Given the description of an element on the screen output the (x, y) to click on. 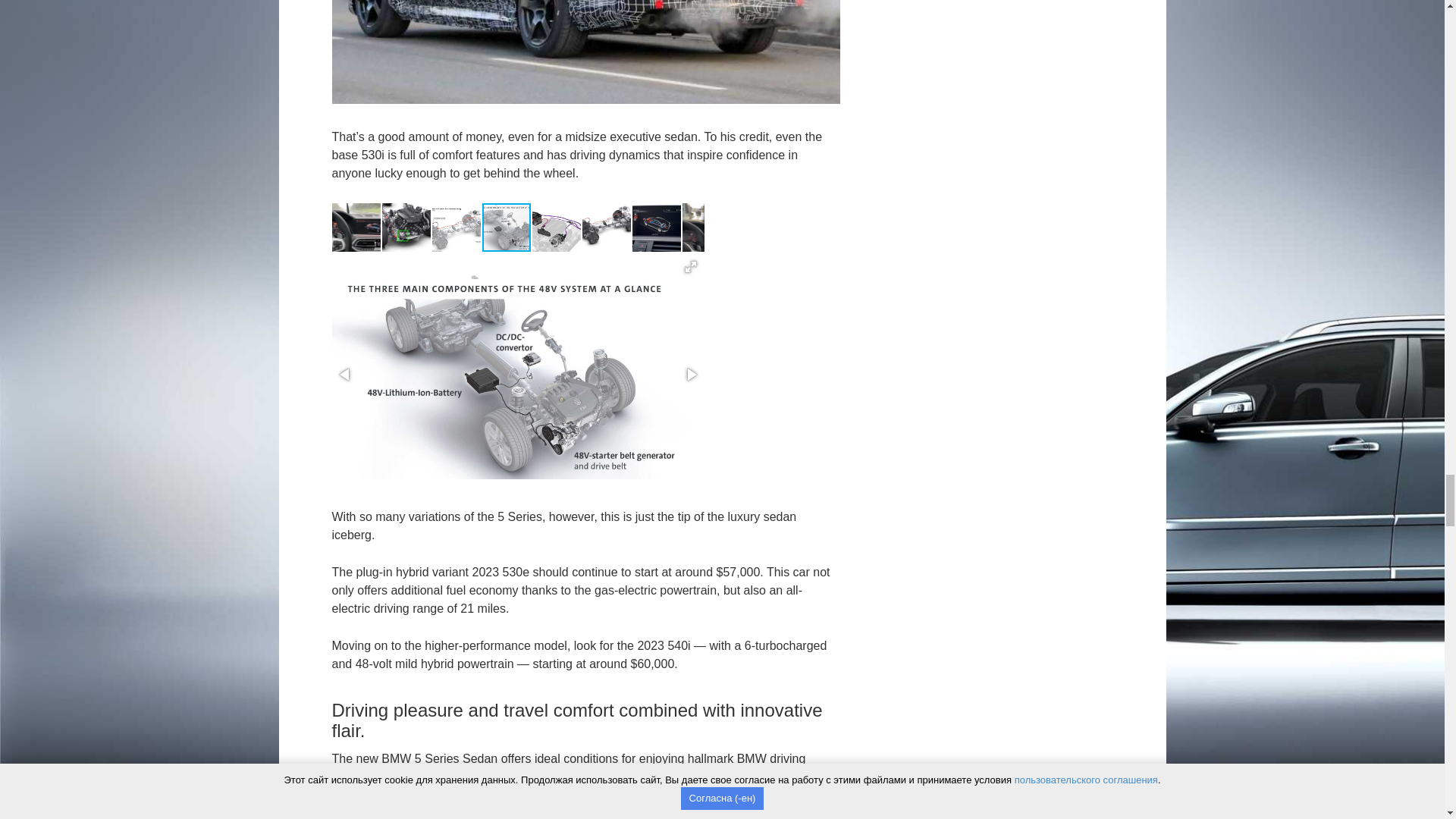
high level of acoustic comfort as (581, 794)
